Given the description of an element on the screen output the (x, y) to click on. 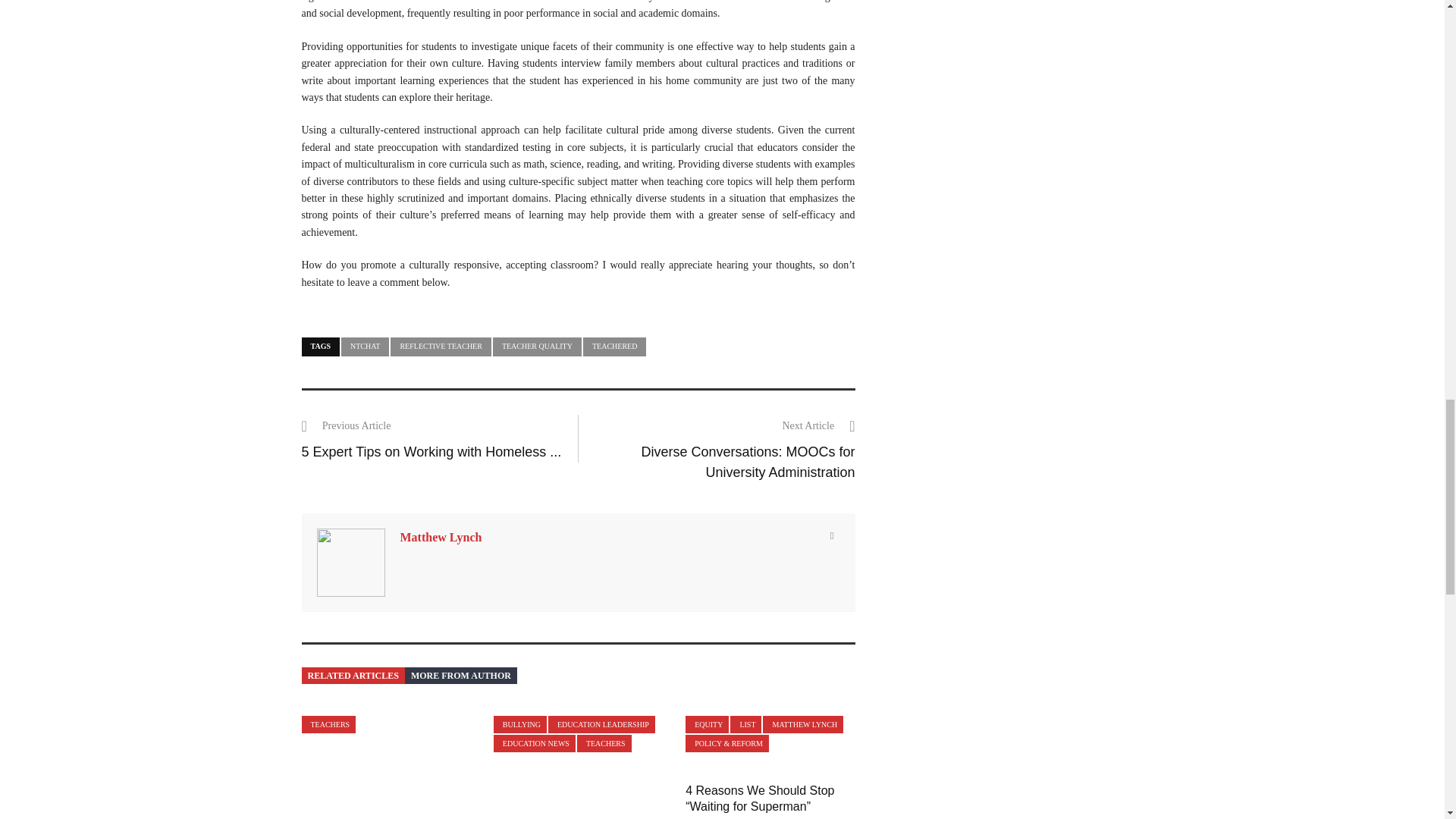
View all posts tagged teachered (614, 346)
View all posts tagged ntchat (364, 346)
View all posts tagged reflective teacher (440, 346)
View all posts tagged teacher quality (536, 346)
